Given the description of an element on the screen output the (x, y) to click on. 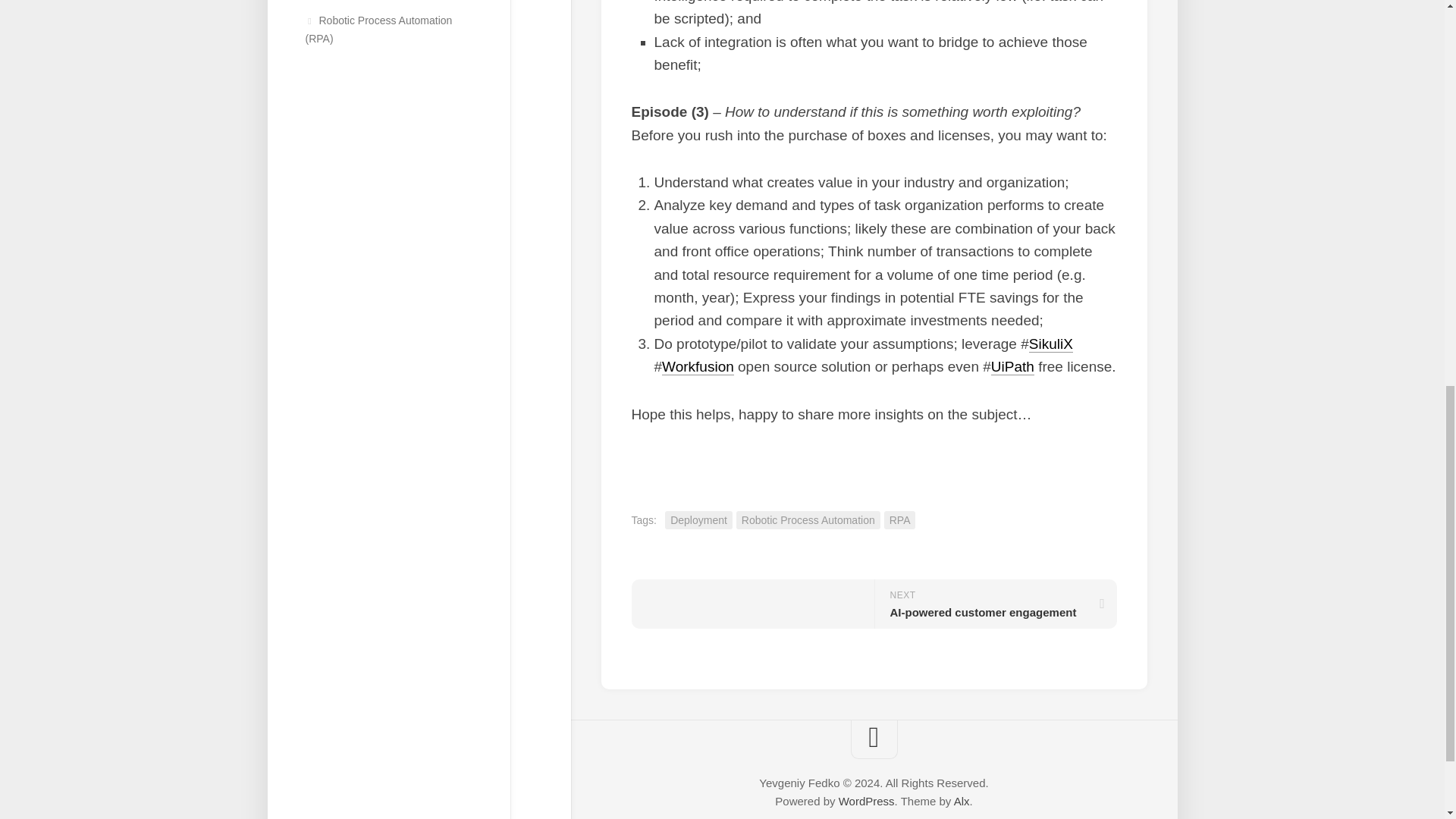
SikuliX (1051, 343)
Alx (961, 800)
RPA (899, 520)
Robotic Process Automation (808, 520)
Workfusion (994, 603)
Deployment (697, 366)
WordPress (698, 520)
UiPath (866, 800)
